Given the description of an element on the screen output the (x, y) to click on. 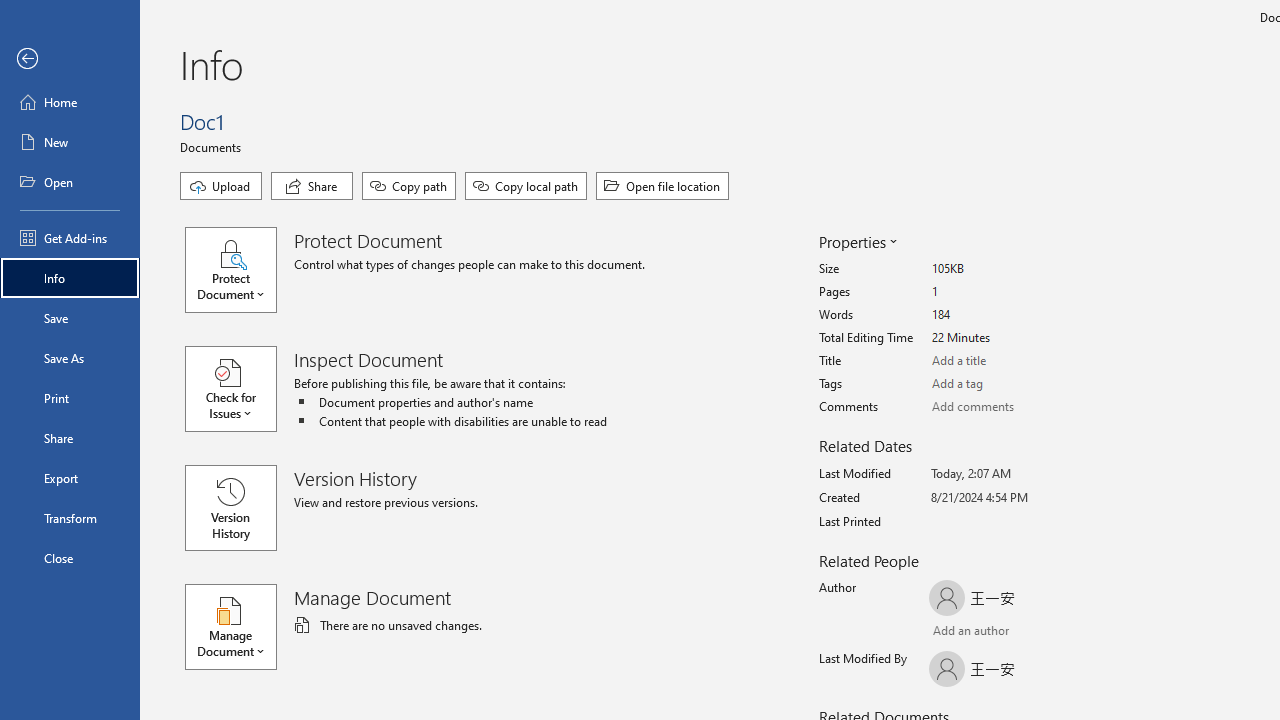
Version History (230, 507)
Properties (856, 241)
Size (1006, 269)
Transform (69, 517)
Documents (213, 146)
Check for Issues (239, 389)
Get Add-ins (69, 237)
Total Editing Time (1006, 338)
Info (69, 277)
Back (69, 59)
